Given the description of an element on the screen output the (x, y) to click on. 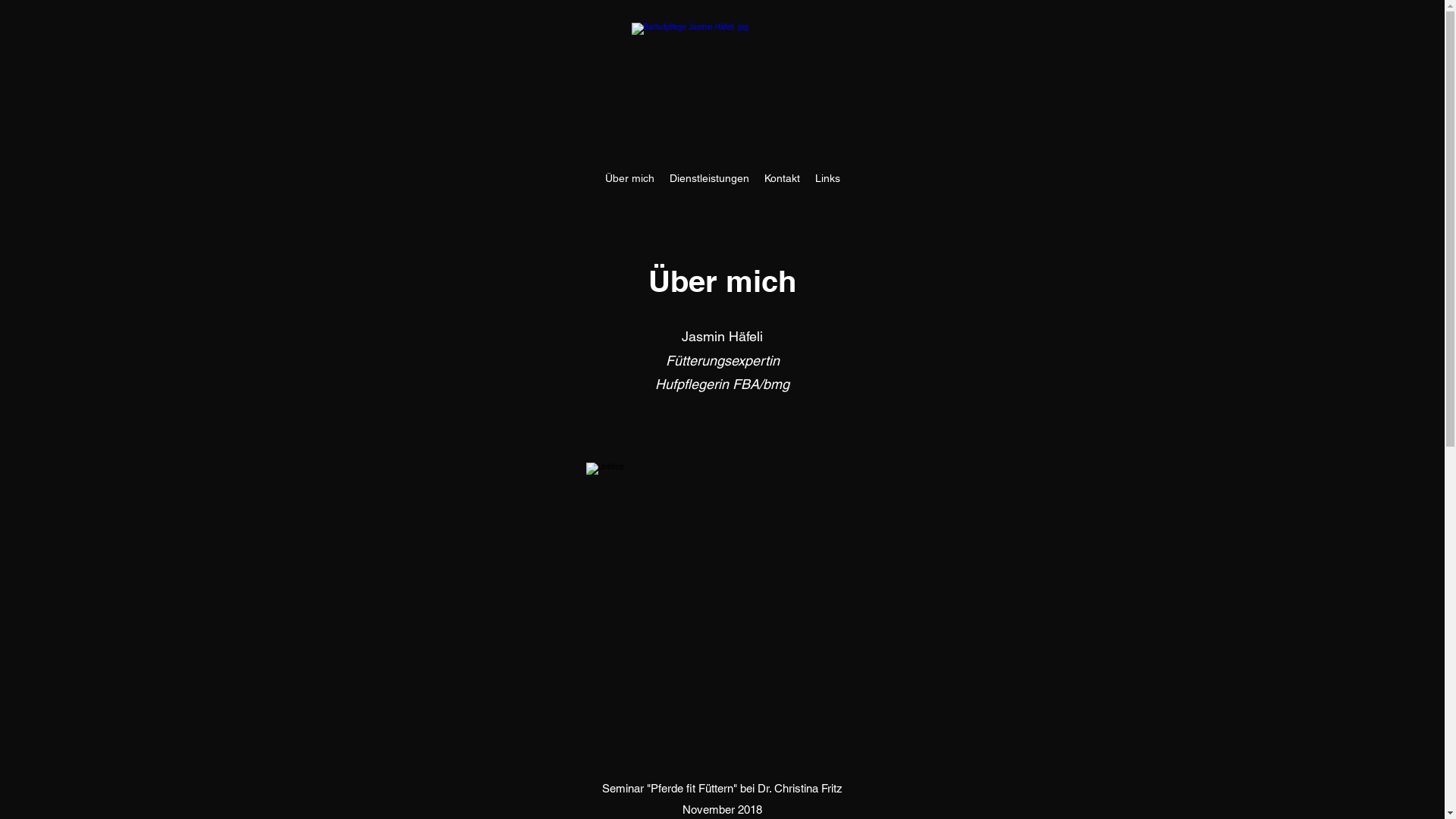
Kontakt Element type: text (781, 177)
Dienstleistungen Element type: text (708, 177)
Links Element type: text (826, 177)
